Given the description of an element on the screen output the (x, y) to click on. 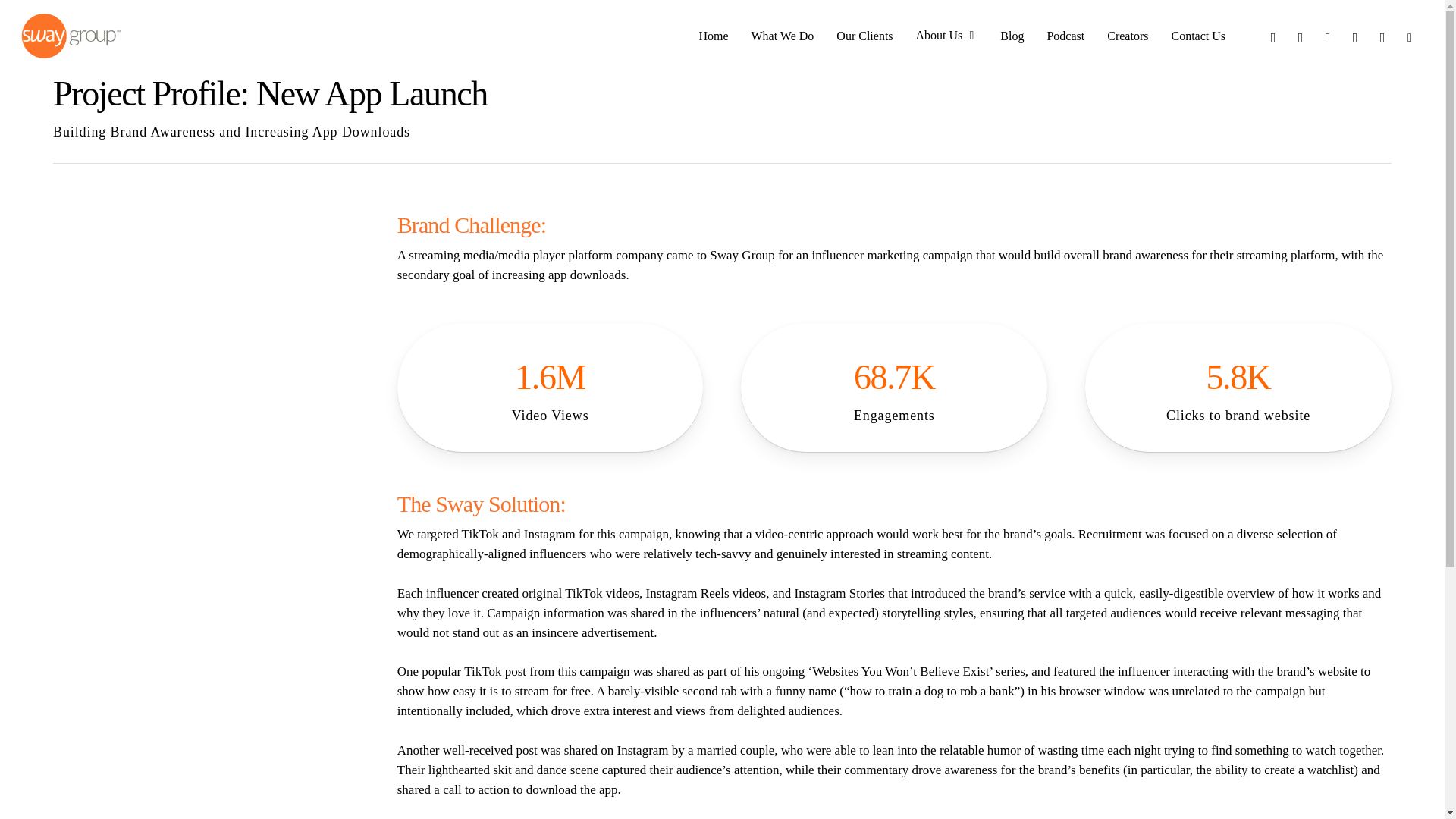
youtube (1327, 36)
Contact Us (1197, 36)
spotify (1382, 36)
tiktok (1409, 36)
linkedin (1300, 36)
instagram (1354, 36)
About Us (946, 35)
Home (713, 36)
Podcast (1065, 36)
Blog (1011, 36)
